Given the description of an element on the screen output the (x, y) to click on. 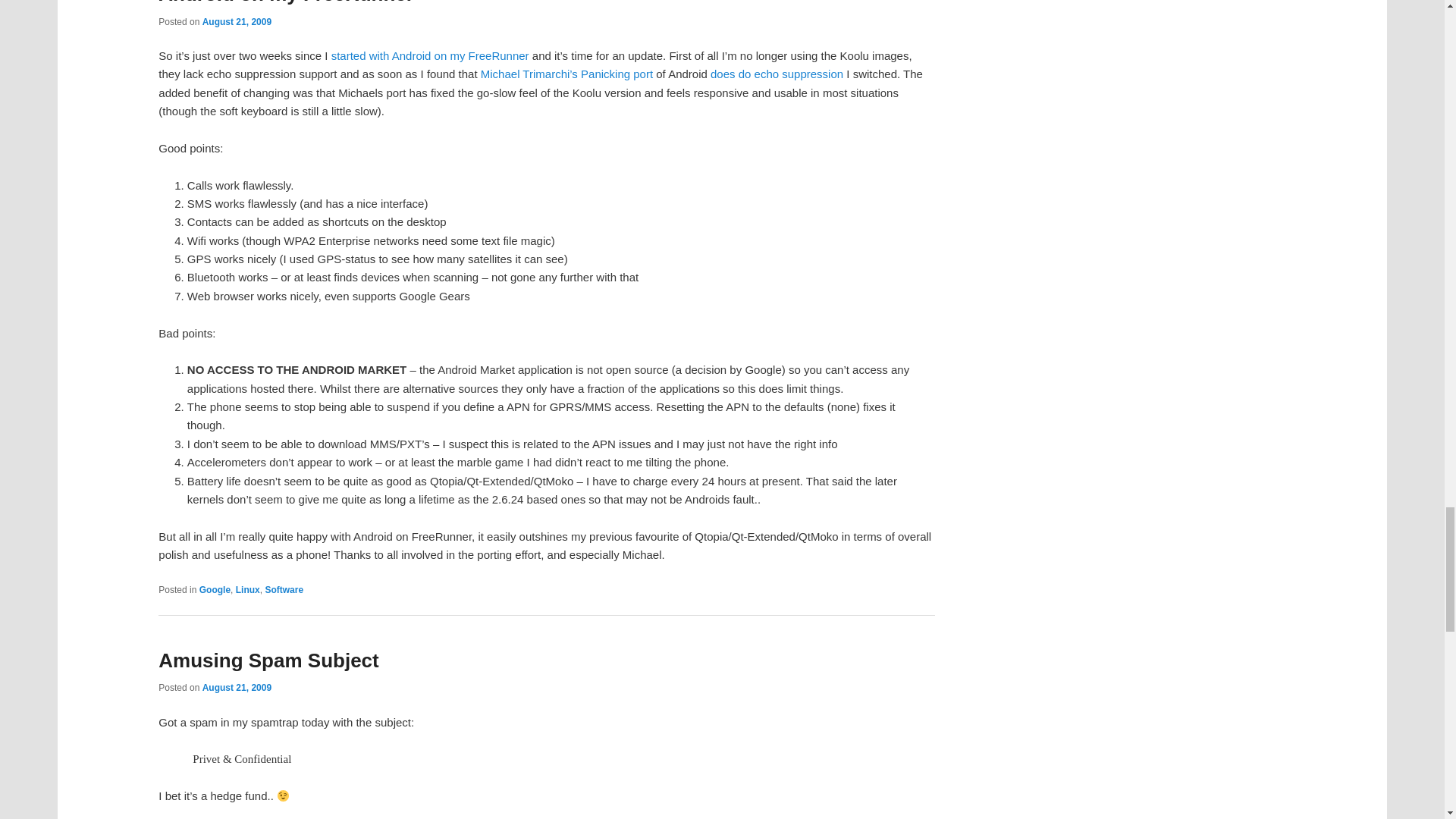
11:49 pm (236, 21)
8:08 pm (236, 687)
